Given the description of an element on the screen output the (x, y) to click on. 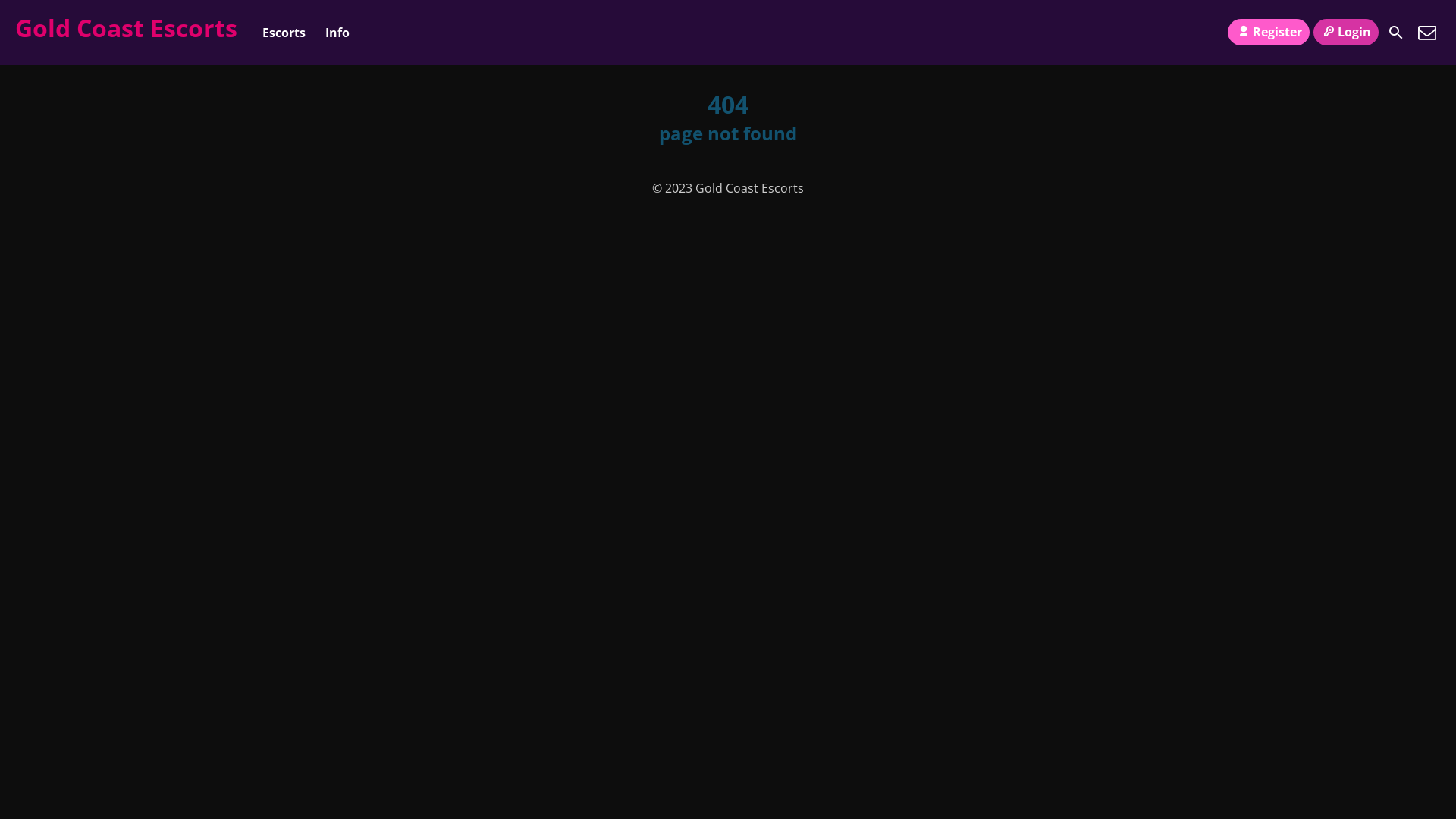
Gold Coast Escorts Element type: text (126, 27)
Info Element type: text (337, 32)
Contact Us Element type: hover (1426, 32)
Login Element type: text (1345, 31)
Escorts Element type: text (283, 32)
Search Element type: hover (1395, 32)
Register Element type: text (1267, 31)
